Given the description of an element on the screen output the (x, y) to click on. 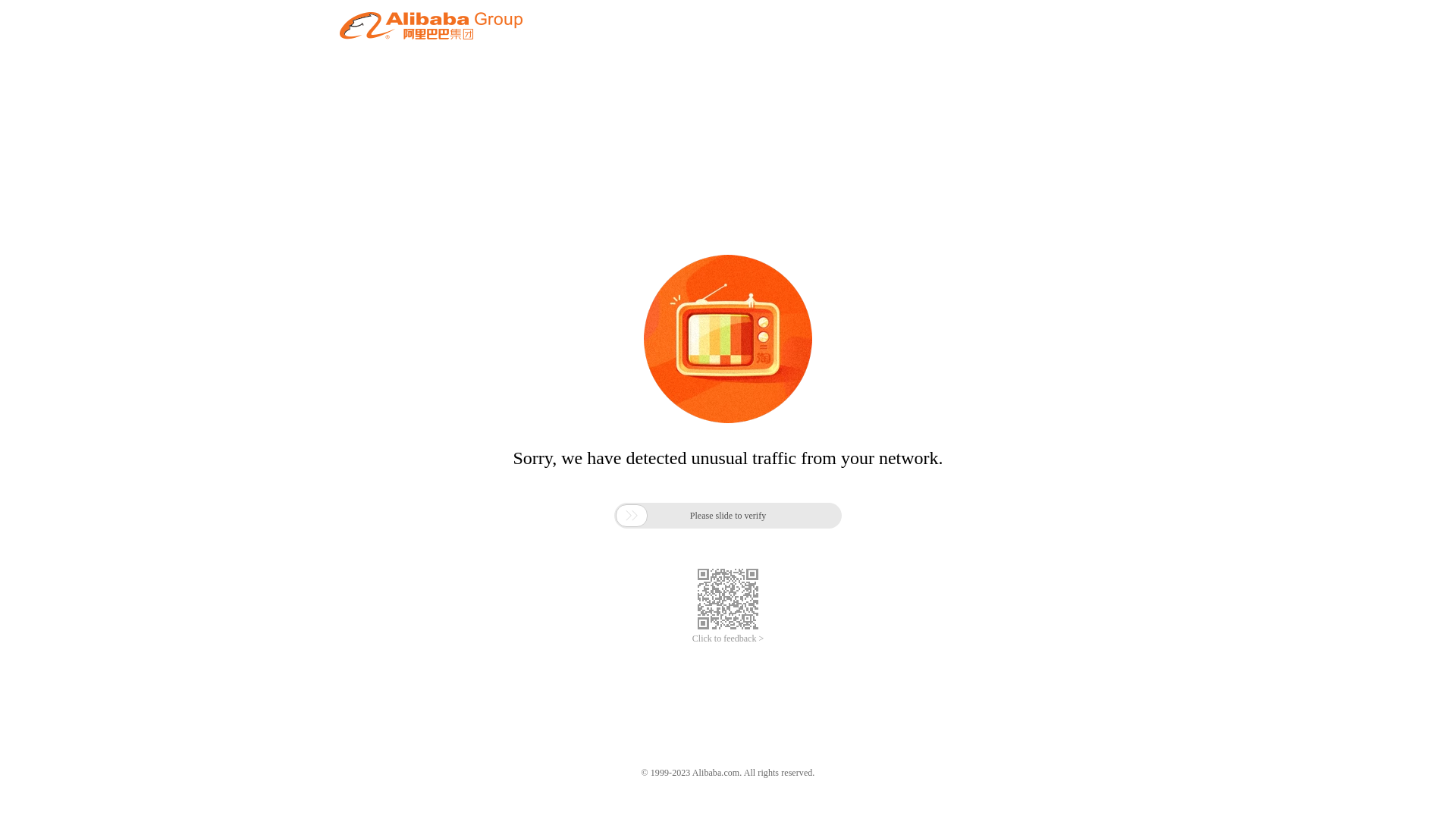
Click to feedback > Element type: text (727, 638)
